Given the description of an element on the screen output the (x, y) to click on. 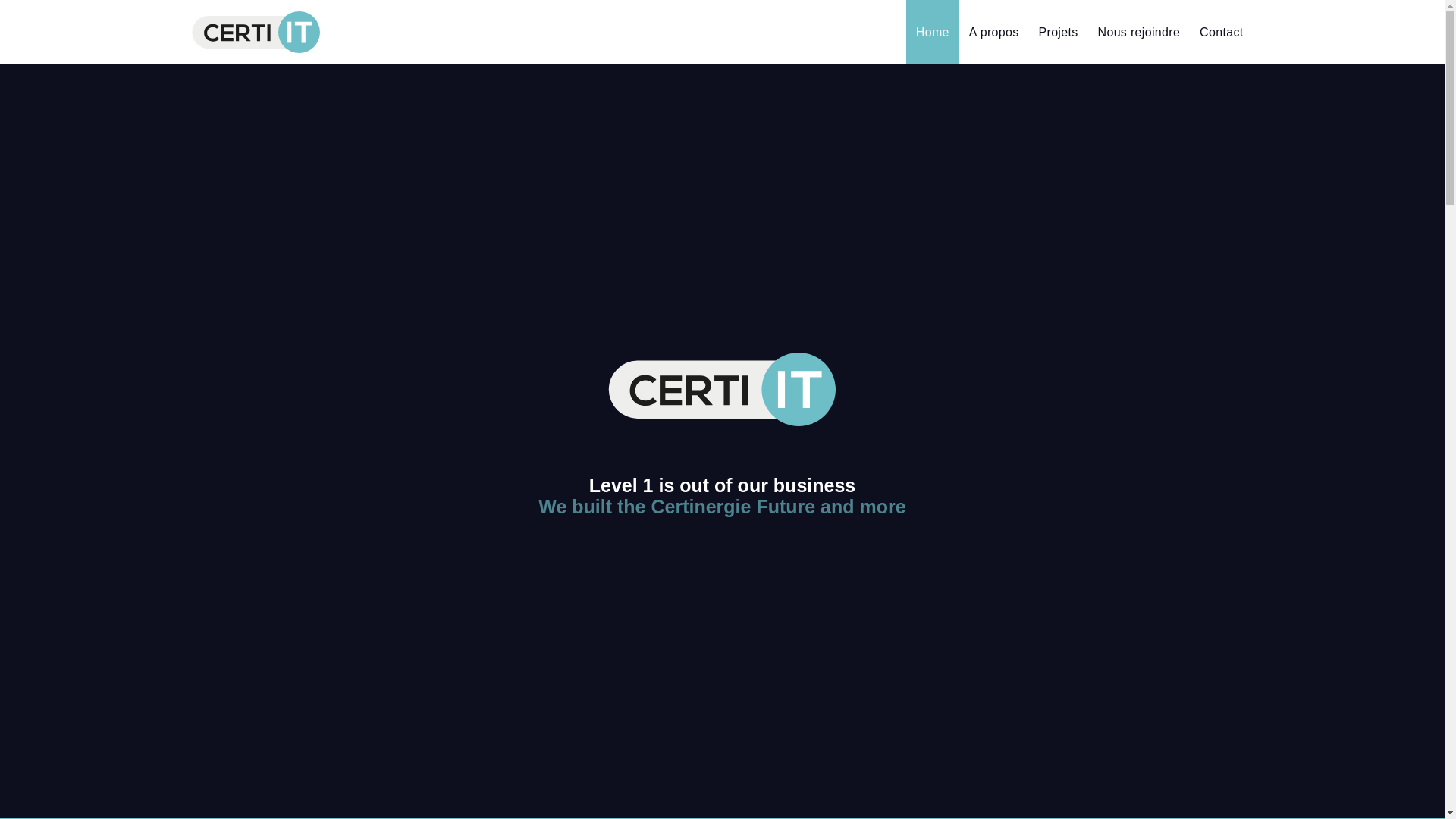
certiIT Element type: hover (721, 389)
A propos Element type: text (994, 32)
Contact Element type: text (1220, 32)
Home Element type: text (932, 32)
Nous rejoindre Element type: text (1139, 32)
Projets Element type: text (1058, 32)
